Given the description of an element on the screen output the (x, y) to click on. 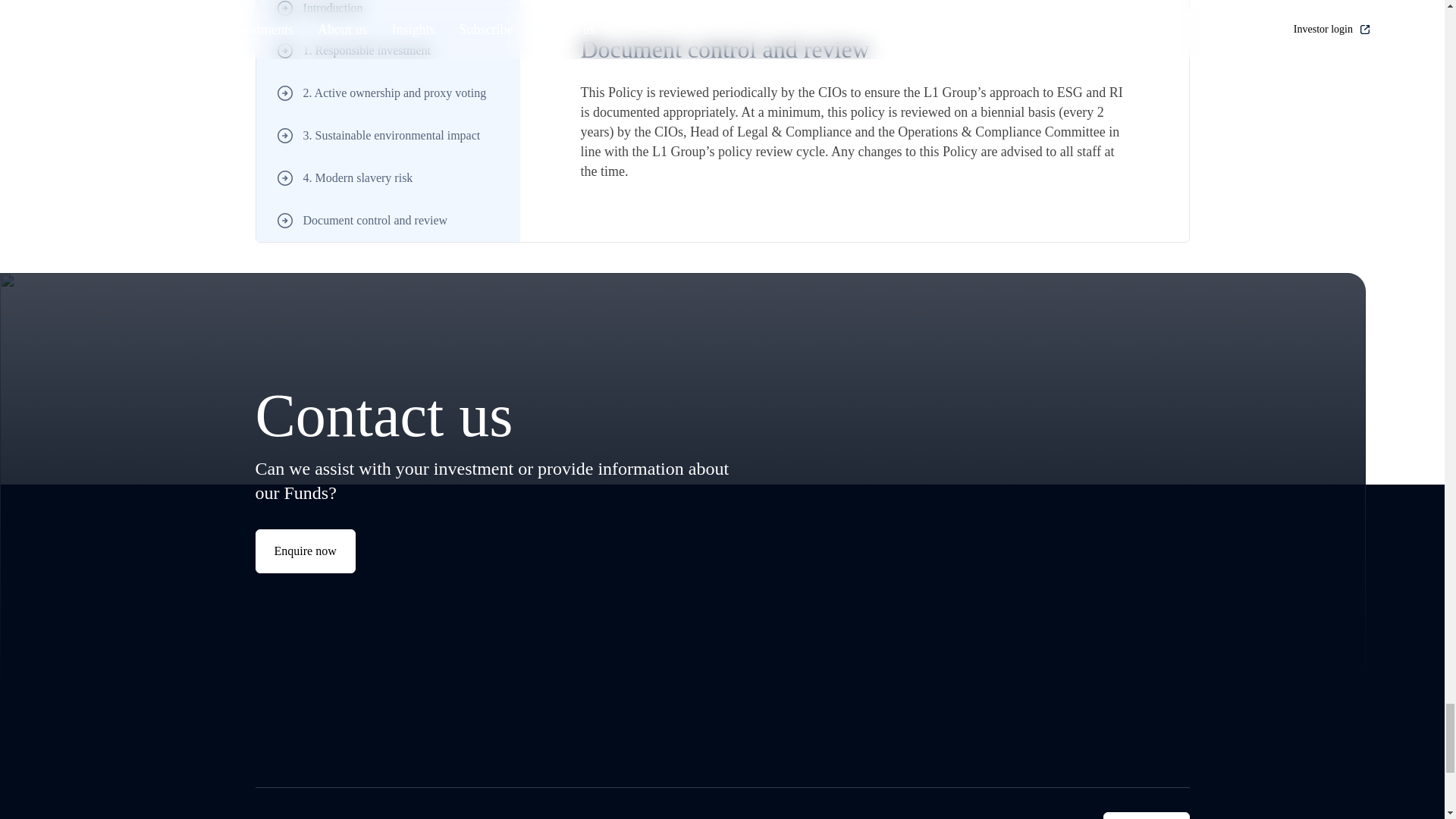
Subscribe (304, 551)
